Given the description of an element on the screen output the (x, y) to click on. 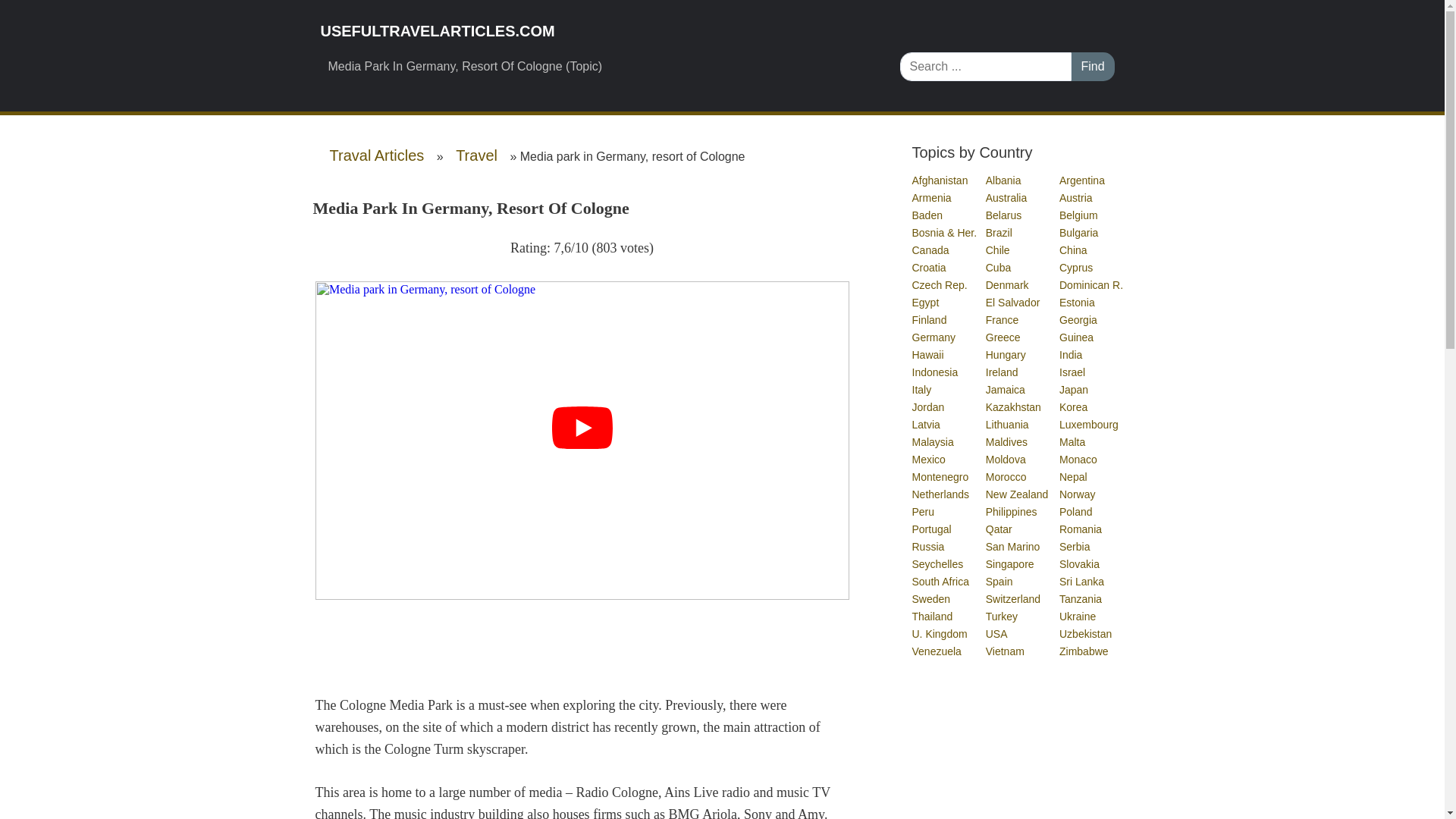
Argentina (1082, 180)
Greece (1003, 337)
Croatia (929, 267)
Finland (929, 319)
El Salvador (1013, 302)
Georgia (1079, 319)
Egypt (925, 302)
Australia (1006, 197)
Find (1091, 66)
Brazil (999, 232)
Baden (927, 215)
France (1002, 319)
Dominican R. (1091, 285)
Germany (933, 337)
Canada (930, 250)
